Given the description of an element on the screen output the (x, y) to click on. 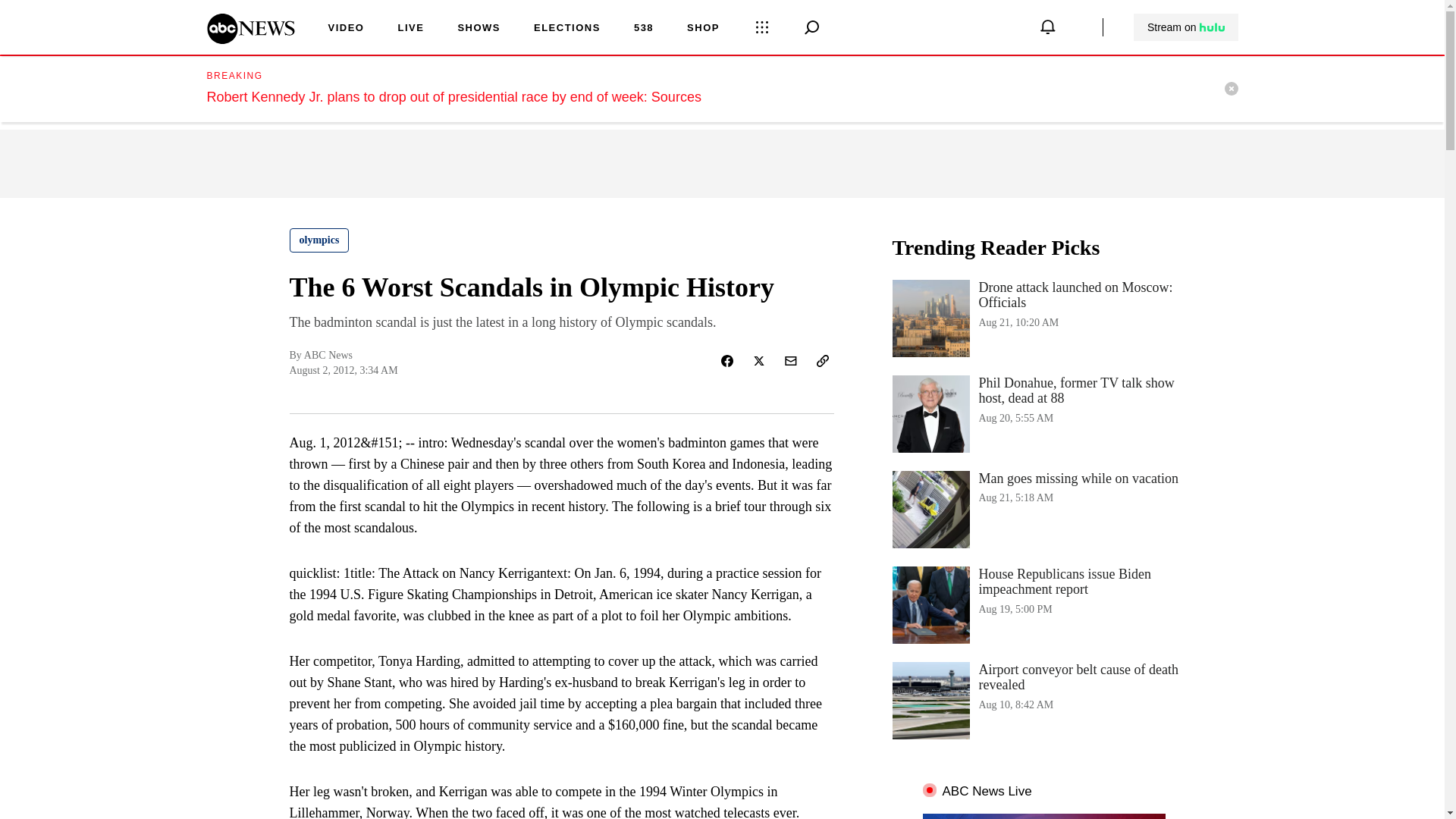
VIDEO (345, 28)
LIVE (410, 28)
SHOWS (478, 28)
ELECTIONS (566, 28)
Stream on (1186, 26)
SHOP (703, 28)
Stream on (1185, 27)
ABC News (250, 38)
538 (643, 28)
